Given the description of an element on the screen output the (x, y) to click on. 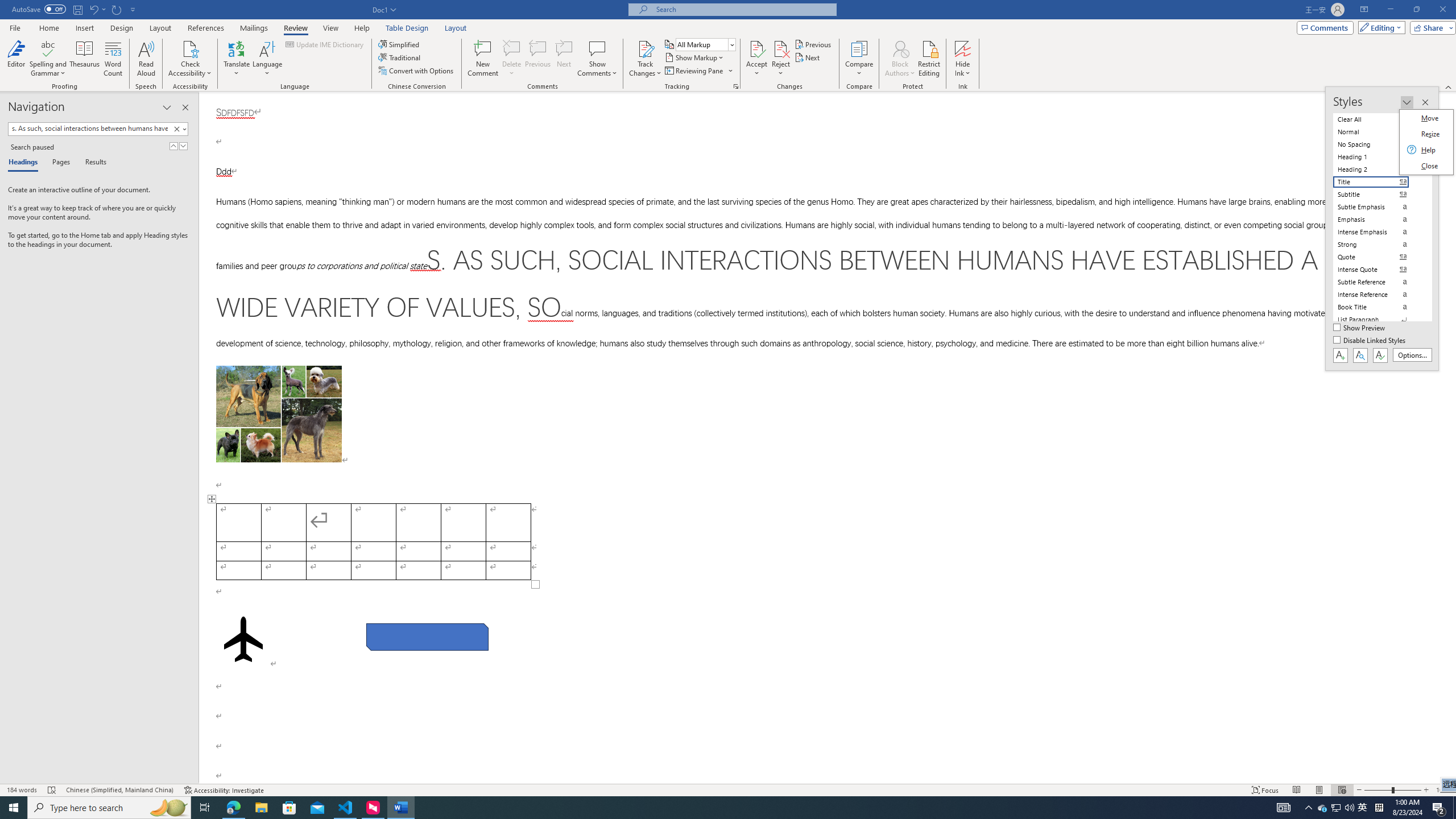
Language (267, 58)
Check Accessibility (189, 58)
File Explorer (261, 807)
Tray Input Indicator - Chinese (Simplified, China) (1378, 807)
Disable Linked Styles (1370, 340)
Word Count (113, 58)
Zoom 100% (1443, 790)
List Paragraph (1377, 319)
Hide Ink (962, 48)
